Given the description of an element on the screen output the (x, y) to click on. 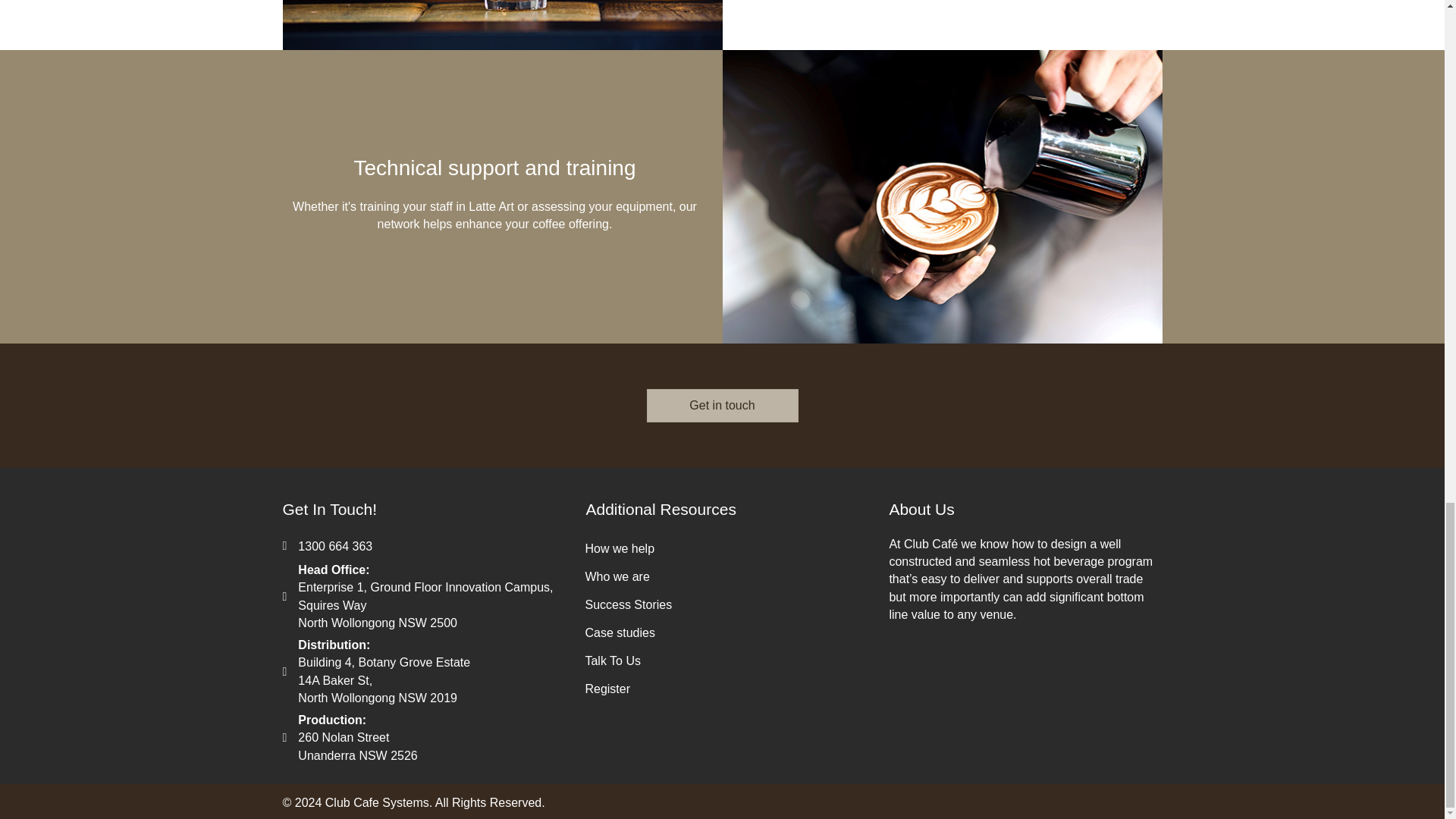
Get in touch (721, 405)
Technical support (941, 196)
Menu and process design (502, 24)
1300 664 363 (335, 546)
